Given the description of an element on the screen output the (x, y) to click on. 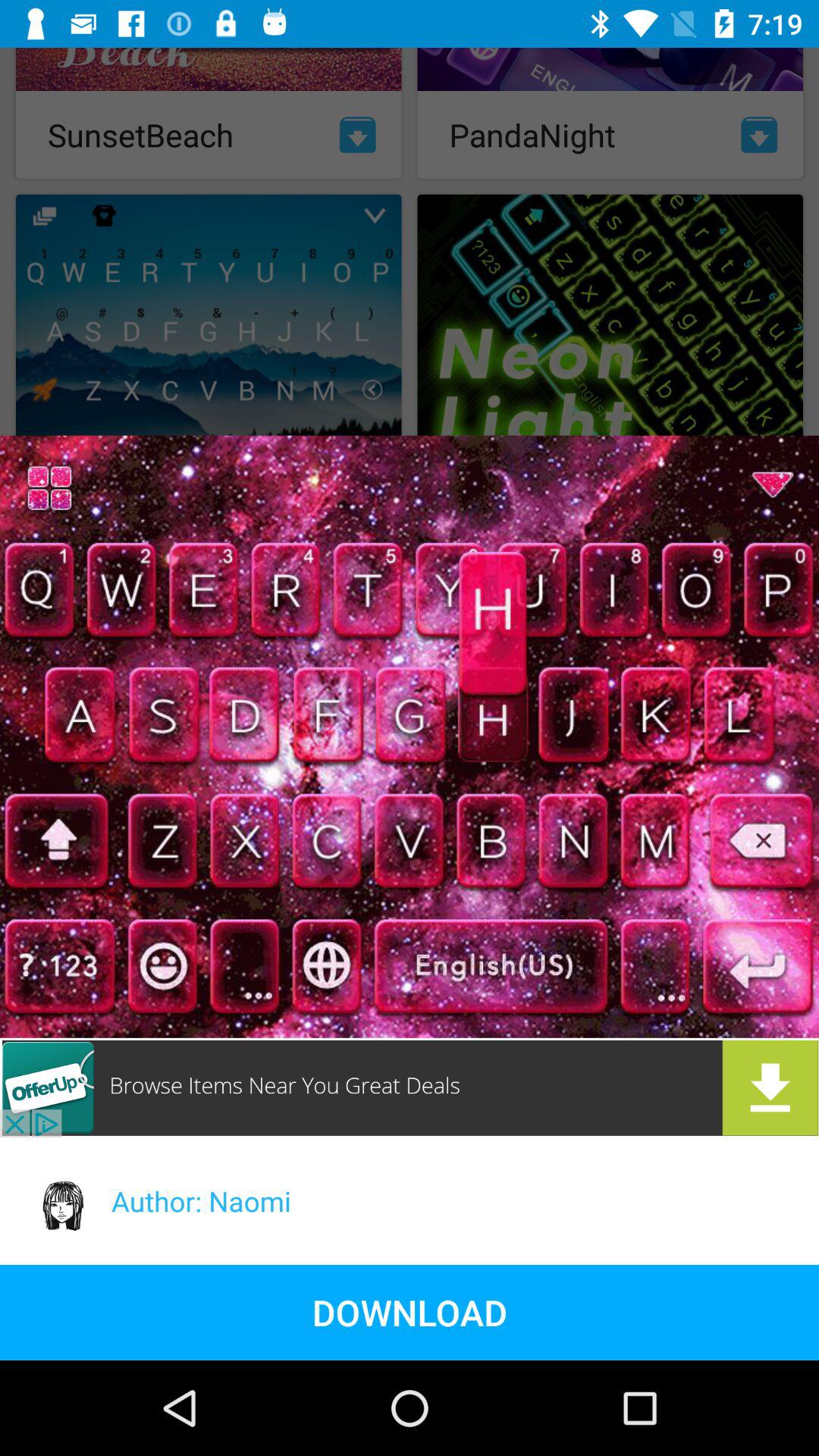
download (409, 1087)
